Given the description of an element on the screen output the (x, y) to click on. 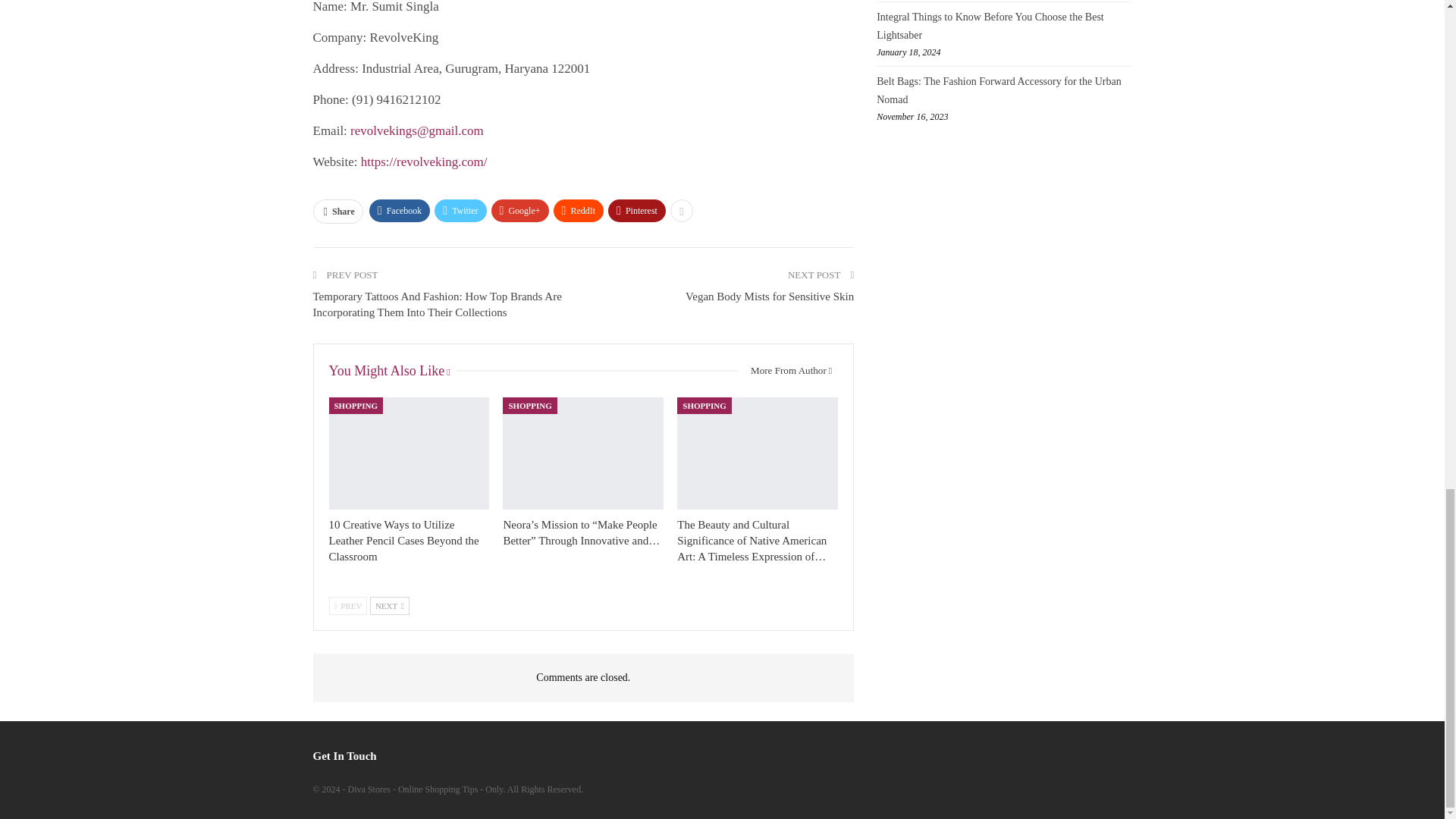
Next (389, 606)
Previous (348, 606)
